Given the description of an element on the screen output the (x, y) to click on. 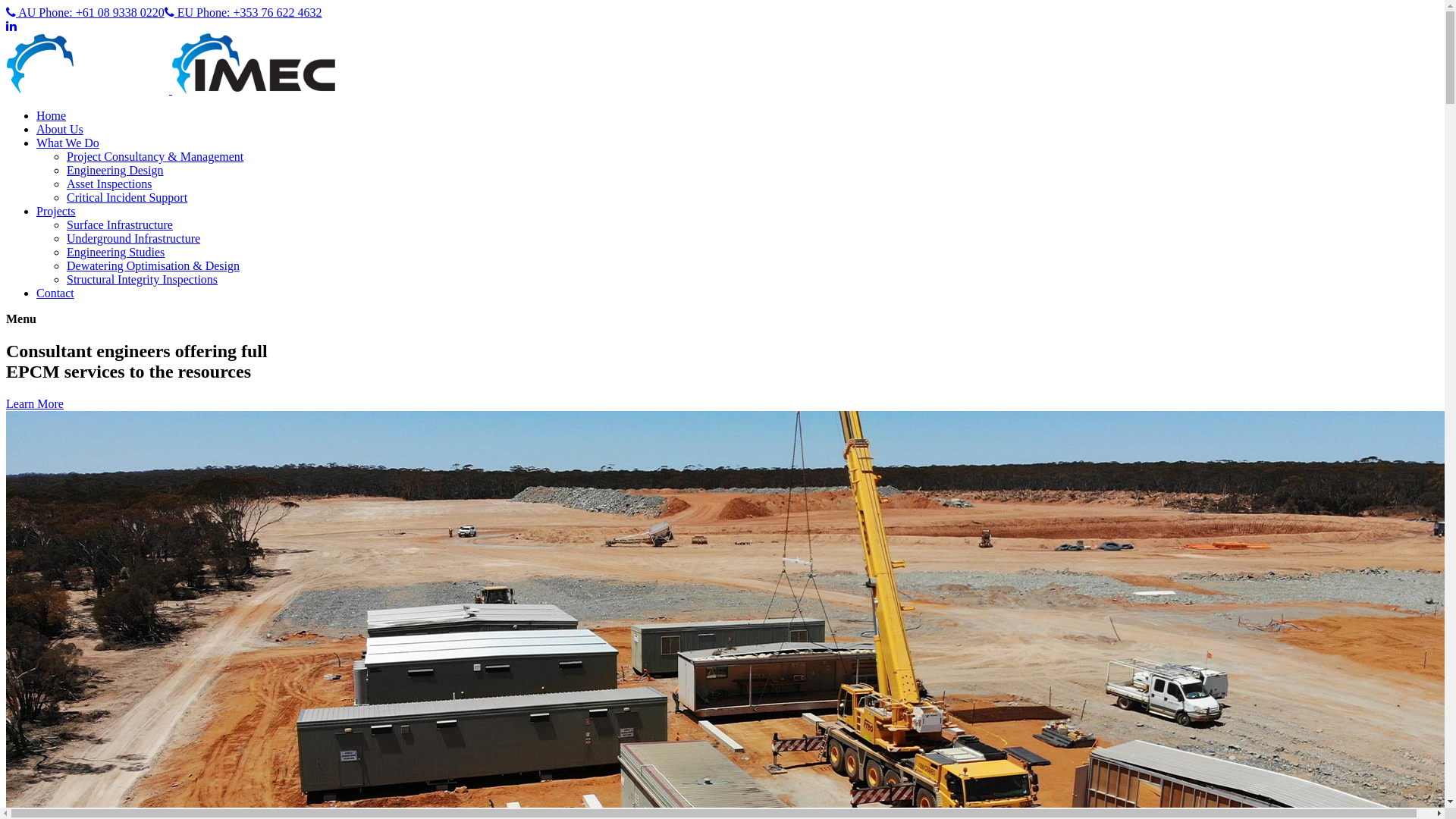
Asset Inspections Element type: text (108, 183)
LinkedIn Element type: hover (11, 25)
Engineering Studies Element type: text (115, 251)
Learn More Element type: text (34, 403)
EU Phone: +353 76 622 4632 Element type: text (243, 12)
Structural Integrity Inspections Element type: text (141, 279)
About Us Element type: text (59, 128)
Engineering Design Element type: text (114, 169)
Surface Infrastructure Element type: text (119, 224)
AU Phone: +61 08 9338 0220 Element type: text (85, 12)
Home Element type: text (50, 115)
Projects Element type: text (55, 210)
Project Consultancy & Management Element type: text (154, 156)
Contact Element type: text (55, 292)
What We Do Element type: text (67, 142)
Critical Incident Support Element type: text (126, 197)
Underground Infrastructure Element type: text (133, 238)
Dewatering Optimisation & Design Element type: text (152, 265)
